Given the description of an element on the screen output the (x, y) to click on. 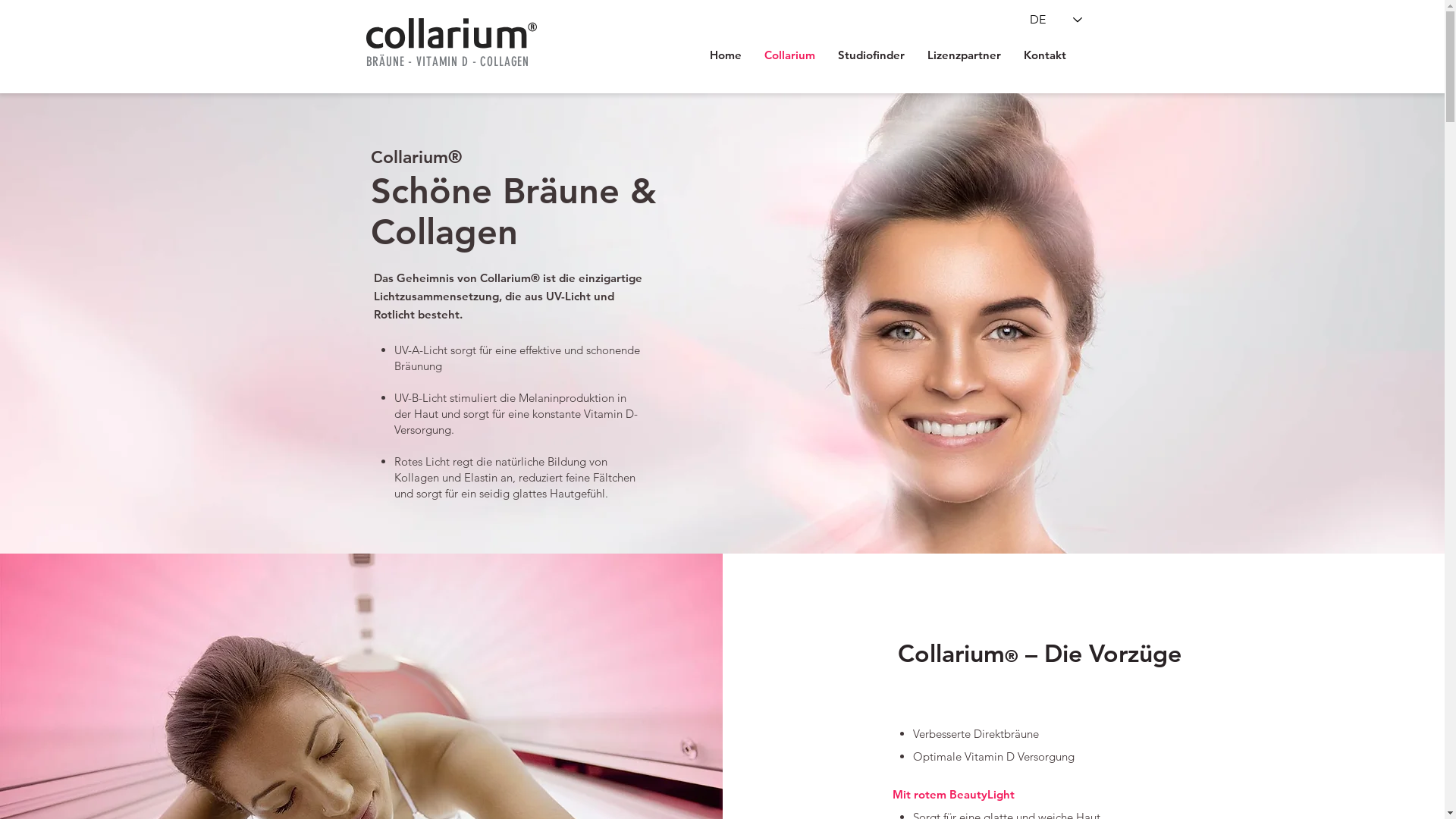
Lizenzpartner Element type: text (964, 54)
Studiofinder Element type: text (871, 54)
Collarium Element type: text (788, 54)
Home Element type: text (724, 54)
Kontakt Element type: text (1043, 54)
